Given the description of an element on the screen output the (x, y) to click on. 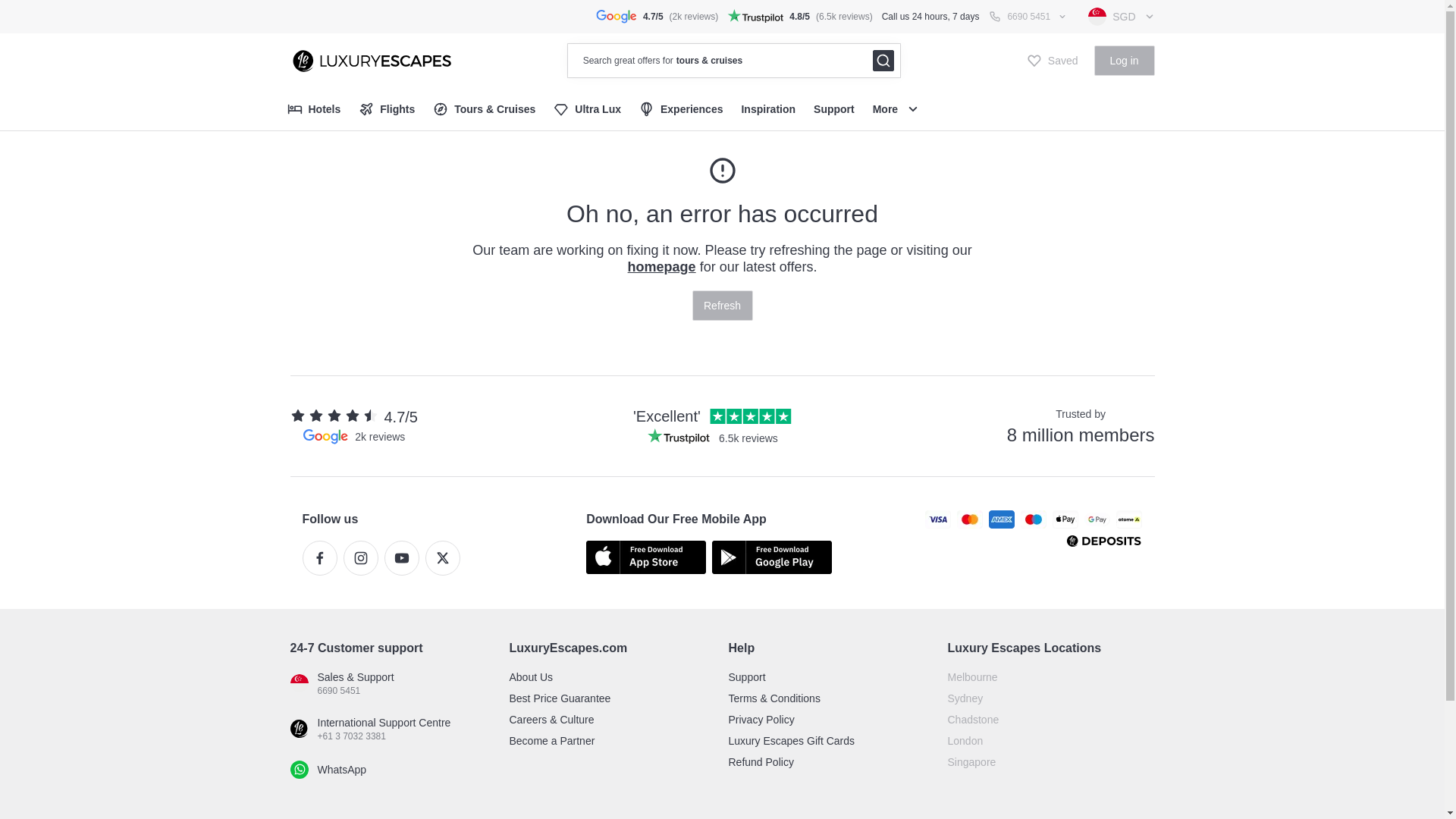
SGD (1122, 16)
6690 5451 (1028, 16)
Luxury Escapes (369, 59)
